Given the description of an element on the screen output the (x, y) to click on. 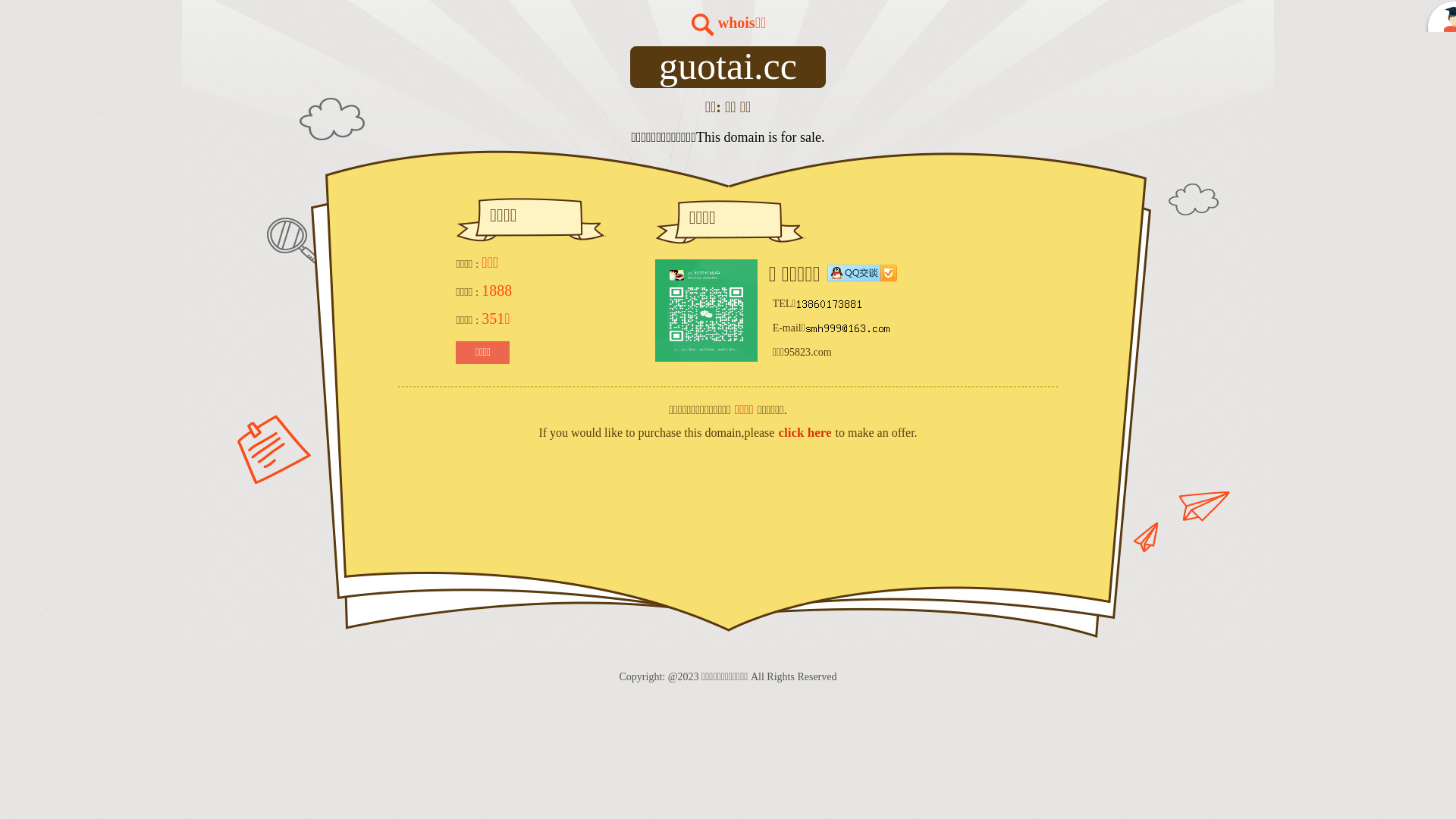
click here Element type: text (804, 432)
